Given the description of an element on the screen output the (x, y) to click on. 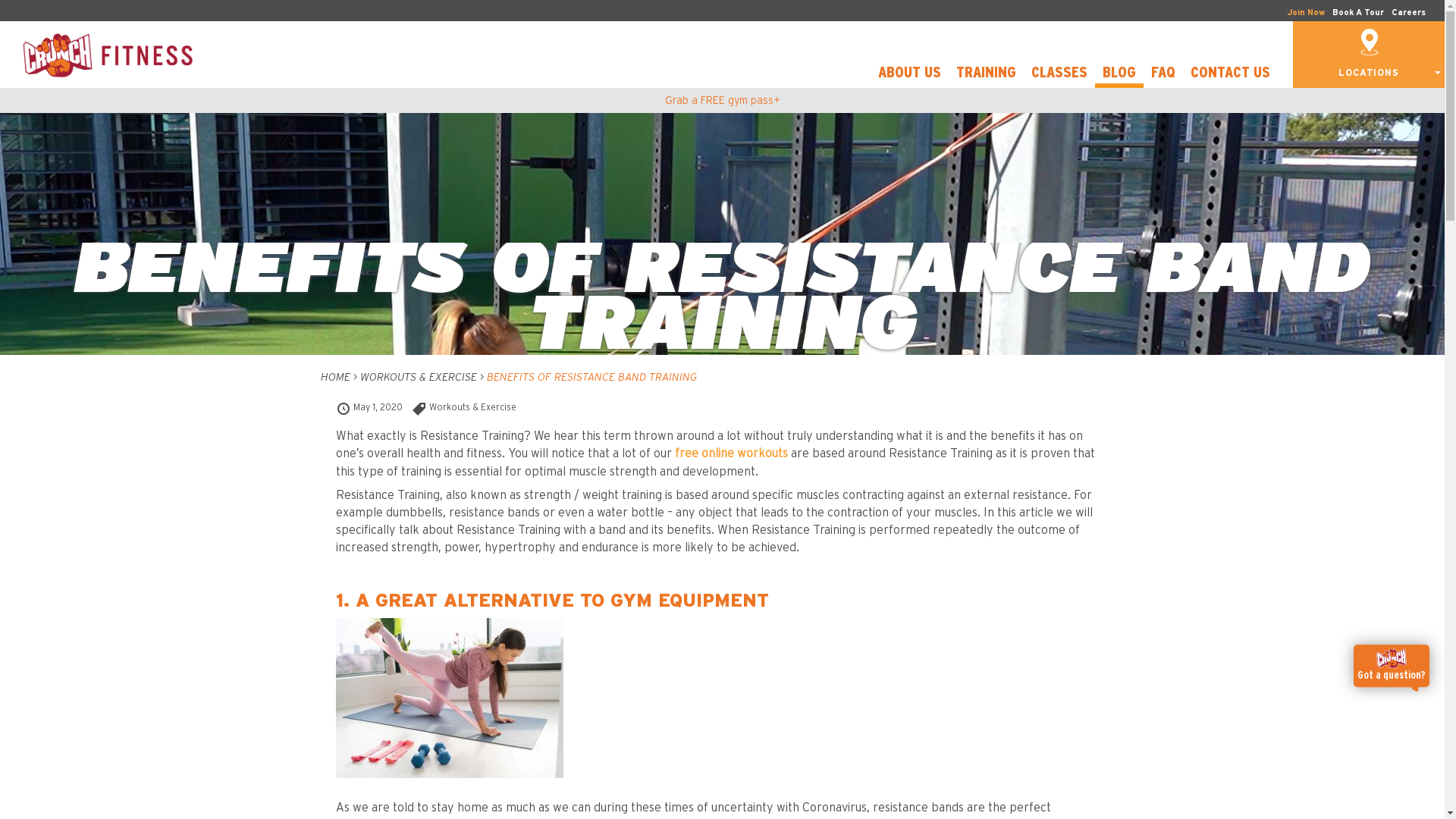
Grab a FREE gym pass+ Element type: text (721, 100)
HOME Element type: text (334, 377)
Careers Element type: text (1408, 12)
Workouts & Exercise Element type: text (472, 406)
CLASSES Element type: text (1059, 74)
BLOG Element type: text (1119, 74)
ABOUT US Element type: text (909, 74)
Book A Tour Element type: text (1357, 12)
free online workouts Element type: text (730, 453)
WORKOUTS & EXERCISE Element type: text (417, 377)
CONTACT US Element type: text (1230, 74)
Join Now Element type: text (1305, 12)
FAQ Element type: text (1163, 74)
TRAINING Element type: text (985, 74)
